Given the description of an element on the screen output the (x, y) to click on. 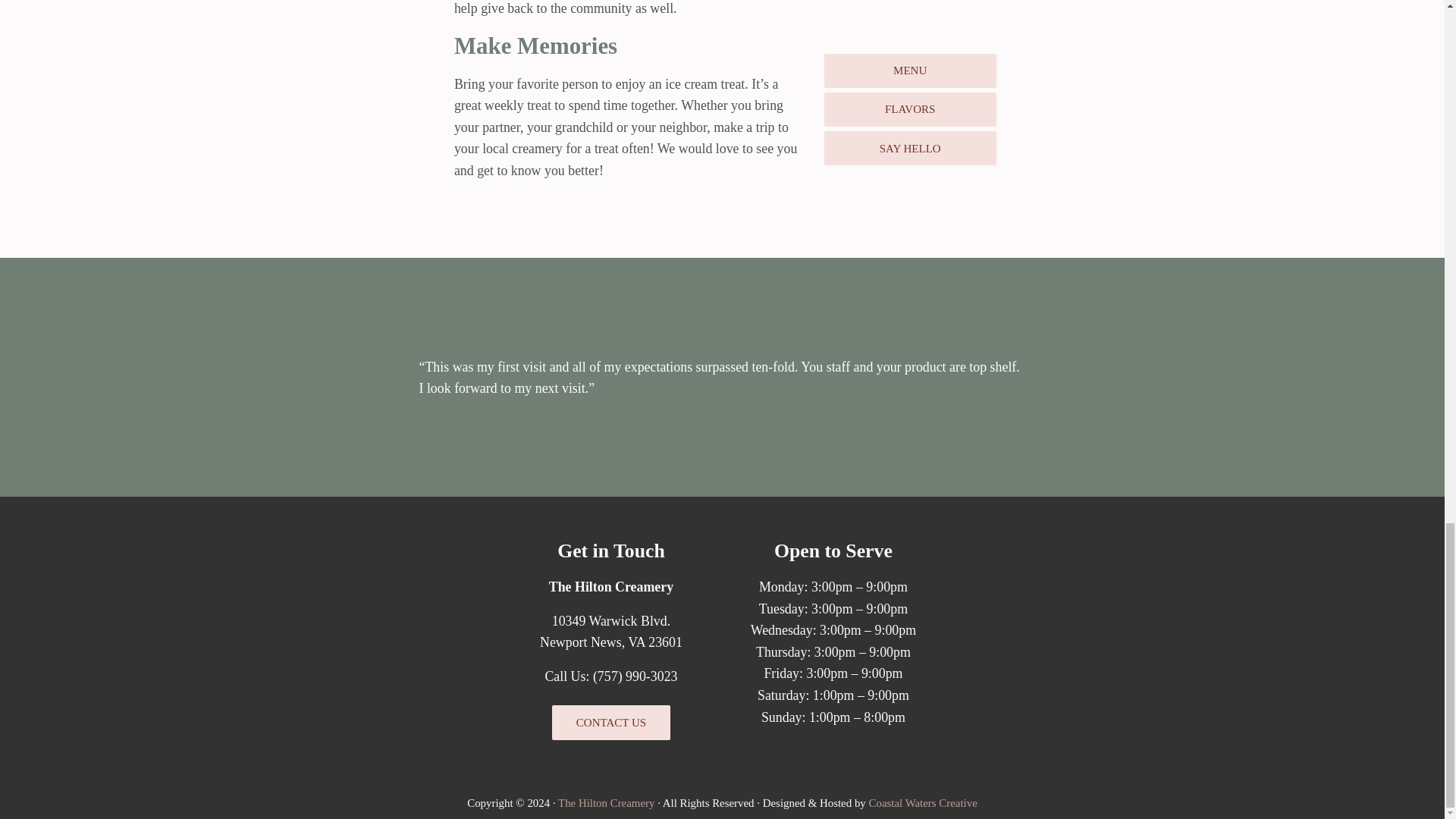
CONTACT US (610, 722)
MENU (909, 70)
SAY HELLO (909, 148)
Coastal Waters Creative (922, 802)
FLAVORS (909, 109)
The Hilton Creamery (605, 802)
